Given the description of an element on the screen output the (x, y) to click on. 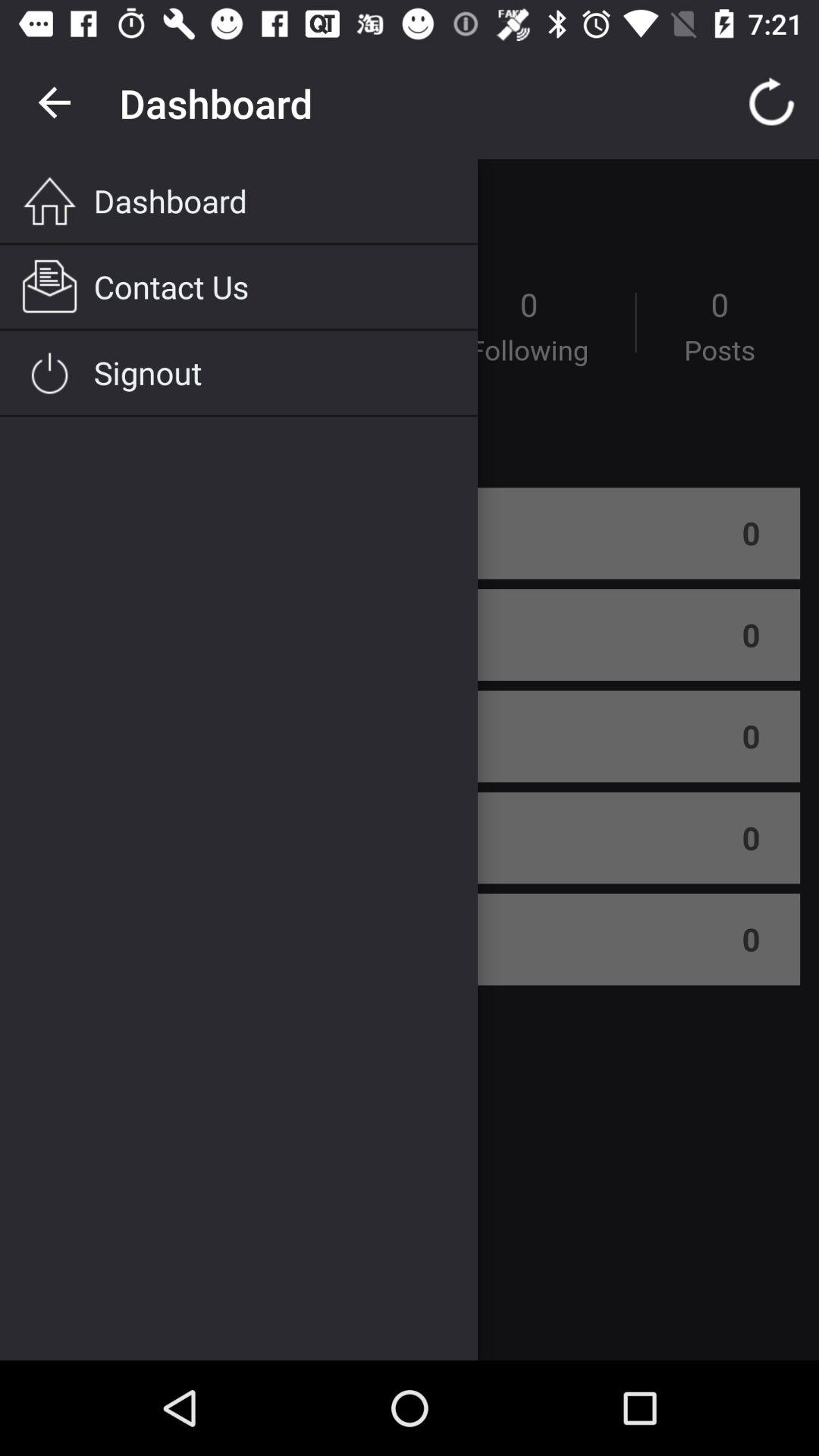
go back (55, 103)
